Given the description of an element on the screen output the (x, y) to click on. 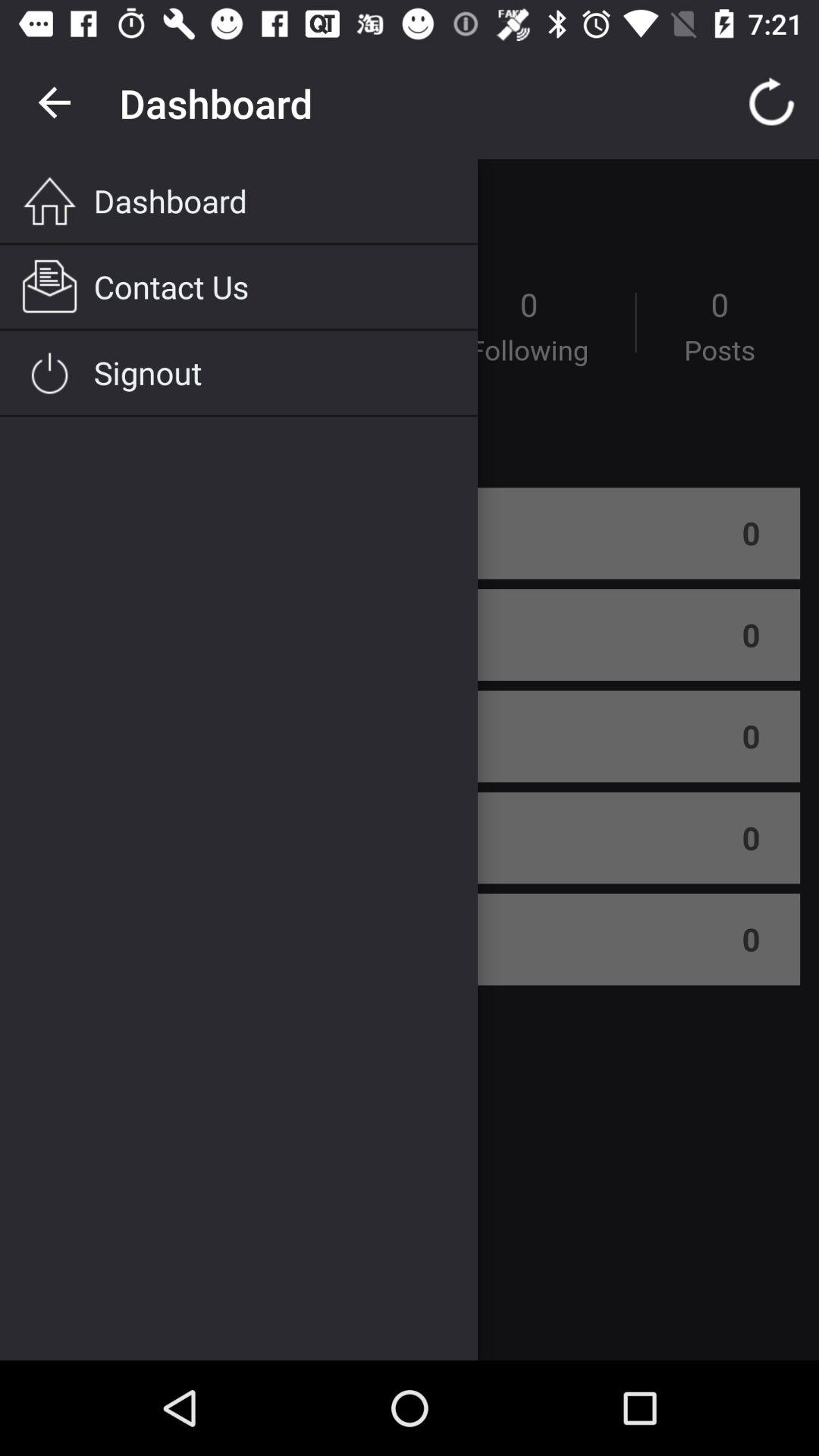
go back (55, 103)
